Given the description of an element on the screen output the (x, y) to click on. 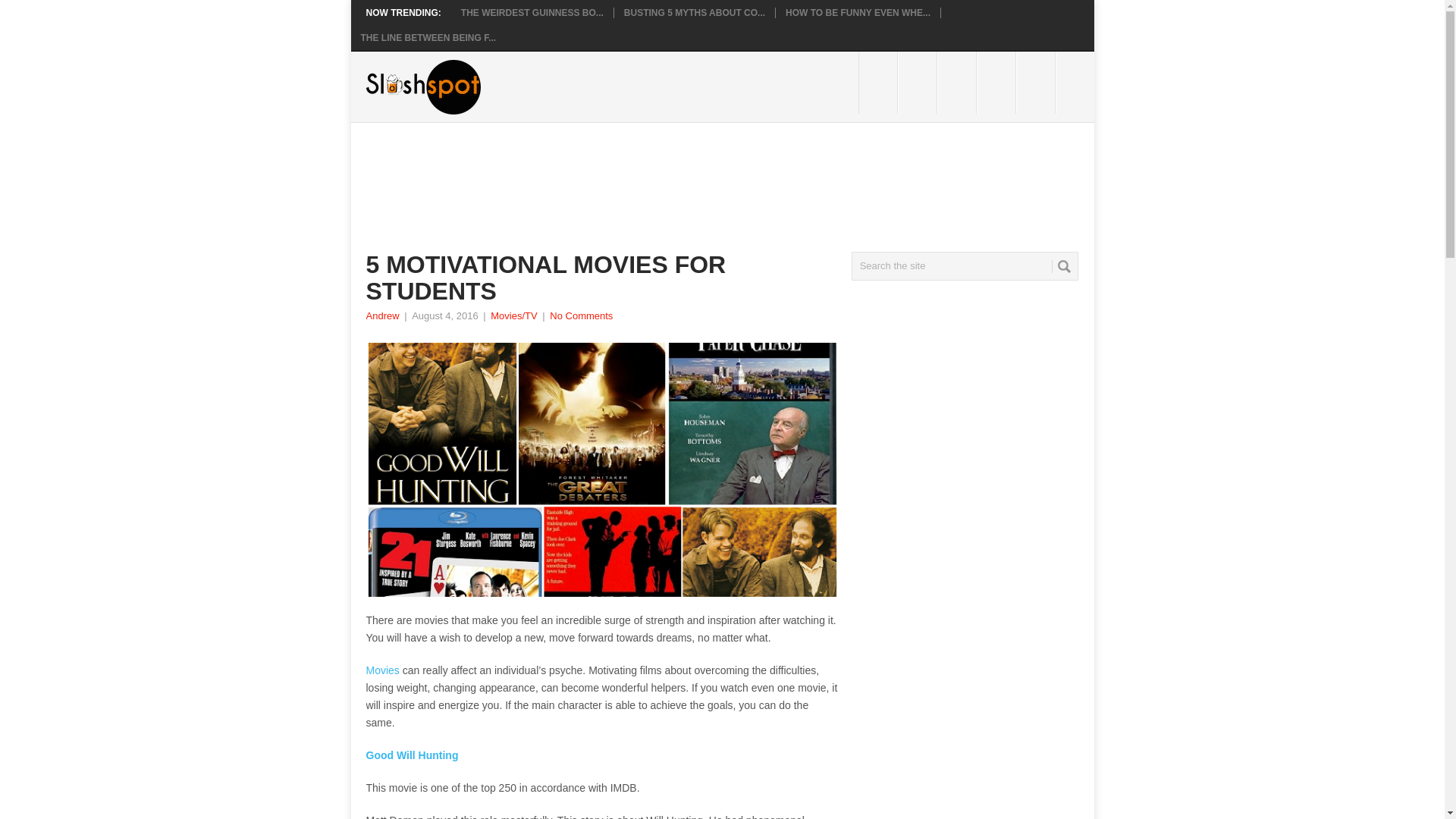
Search (1063, 266)
HOW TO BE FUNNY EVEN WHE... (858, 12)
No Comments (581, 315)
Andrew (381, 315)
Advertisement (641, 174)
Movies (381, 670)
Search the site (964, 265)
Posts by Andrew (381, 315)
Good Will Hunting (411, 755)
Busting 5 Myths About COVID-19 (694, 12)
